Given the description of an element on the screen output the (x, y) to click on. 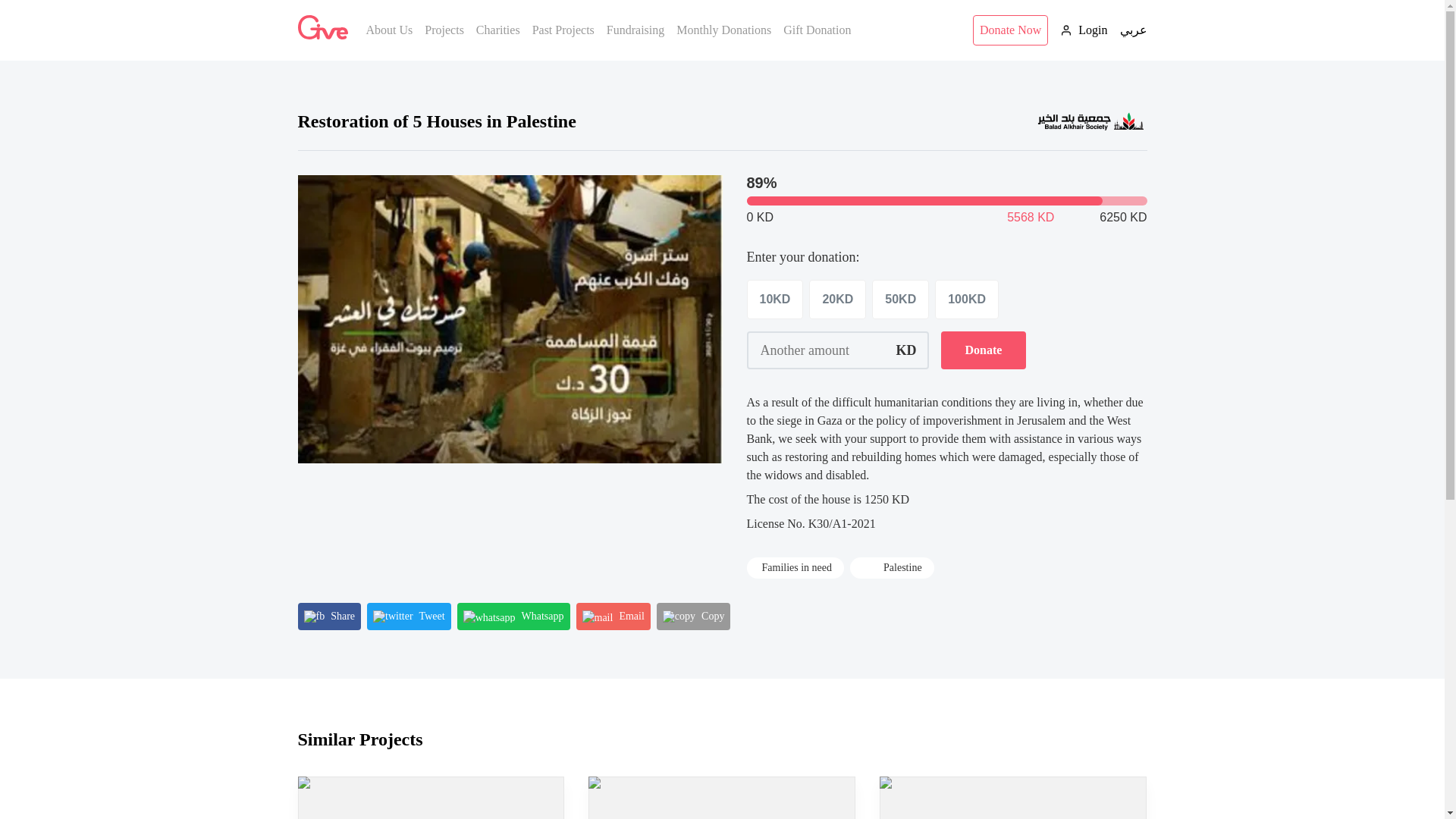
Donate (983, 350)
100KD (966, 299)
Whatsapp (513, 615)
50KD (900, 299)
10KD (774, 299)
Email (613, 615)
Fundraising (635, 30)
Share (329, 615)
Donate Now (1010, 30)
Monthly Donations (724, 30)
Copy (693, 615)
20KD (837, 299)
Projects (444, 30)
Charities (497, 30)
Past Projects (563, 30)
